Given the description of an element on the screen output the (x, y) to click on. 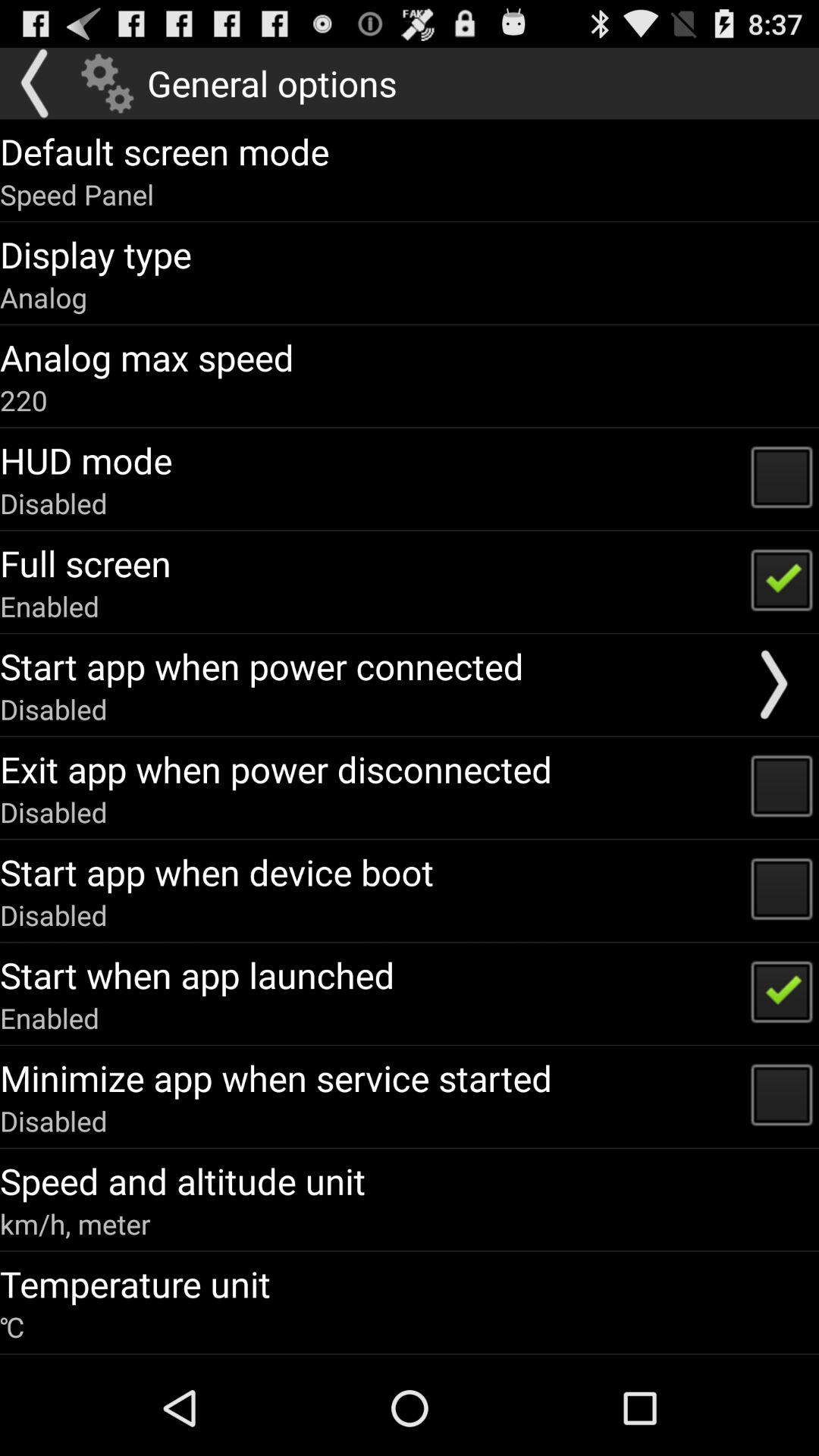
turn off the icon above analog item (95, 254)
